Given the description of an element on the screen output the (x, y) to click on. 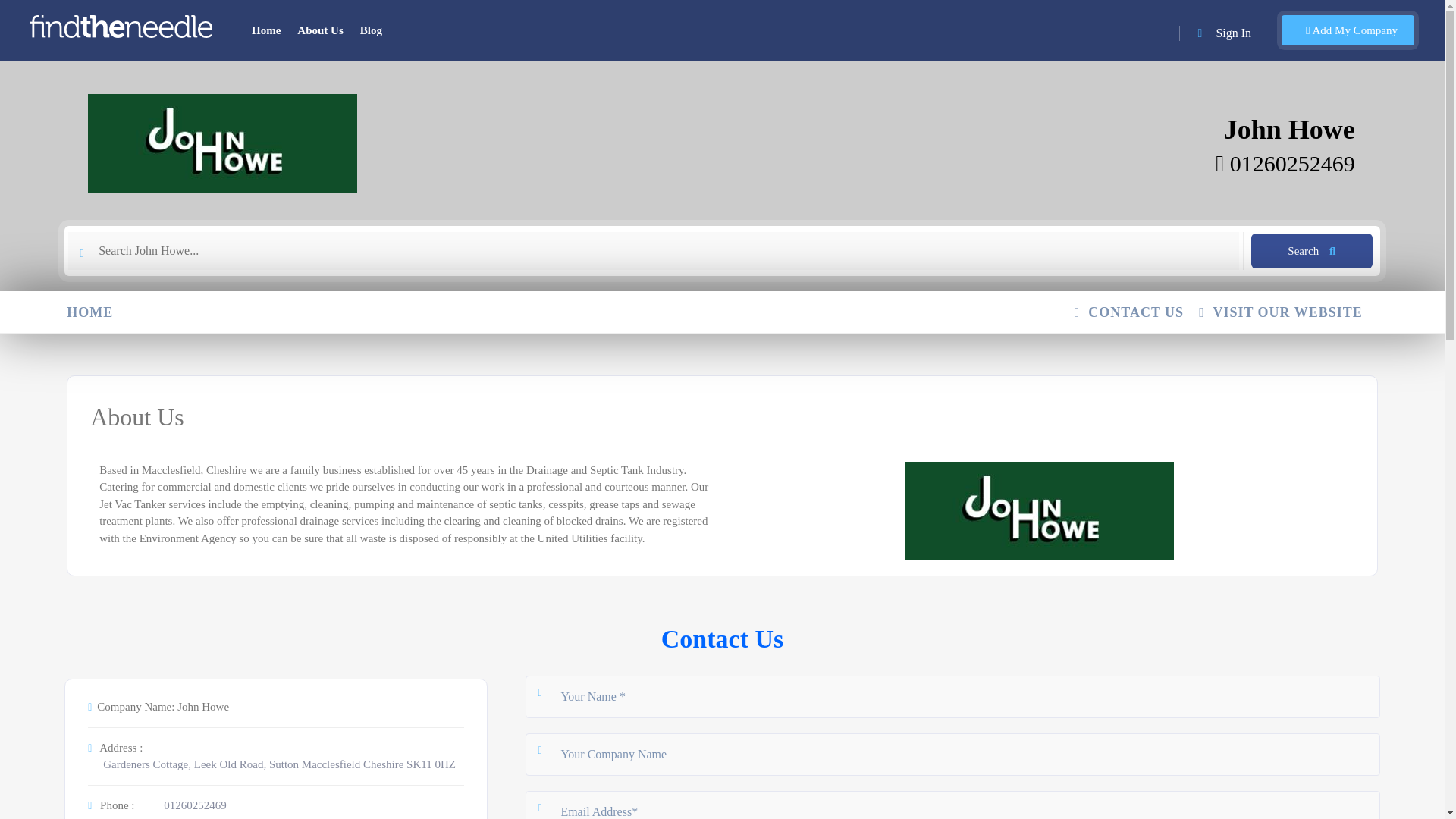
Home (266, 30)
Add My Company (1347, 30)
About Us (319, 30)
Blog (371, 30)
John Howe (1289, 129)
01260252469 (195, 805)
  VISIT OUR WEBSITE (1287, 312)
  CONTACT US (1136, 312)
Contact Us (721, 639)
Search (1311, 250)
01260252469 (1284, 163)
HOME (97, 312)
